Given the description of an element on the screen output the (x, y) to click on. 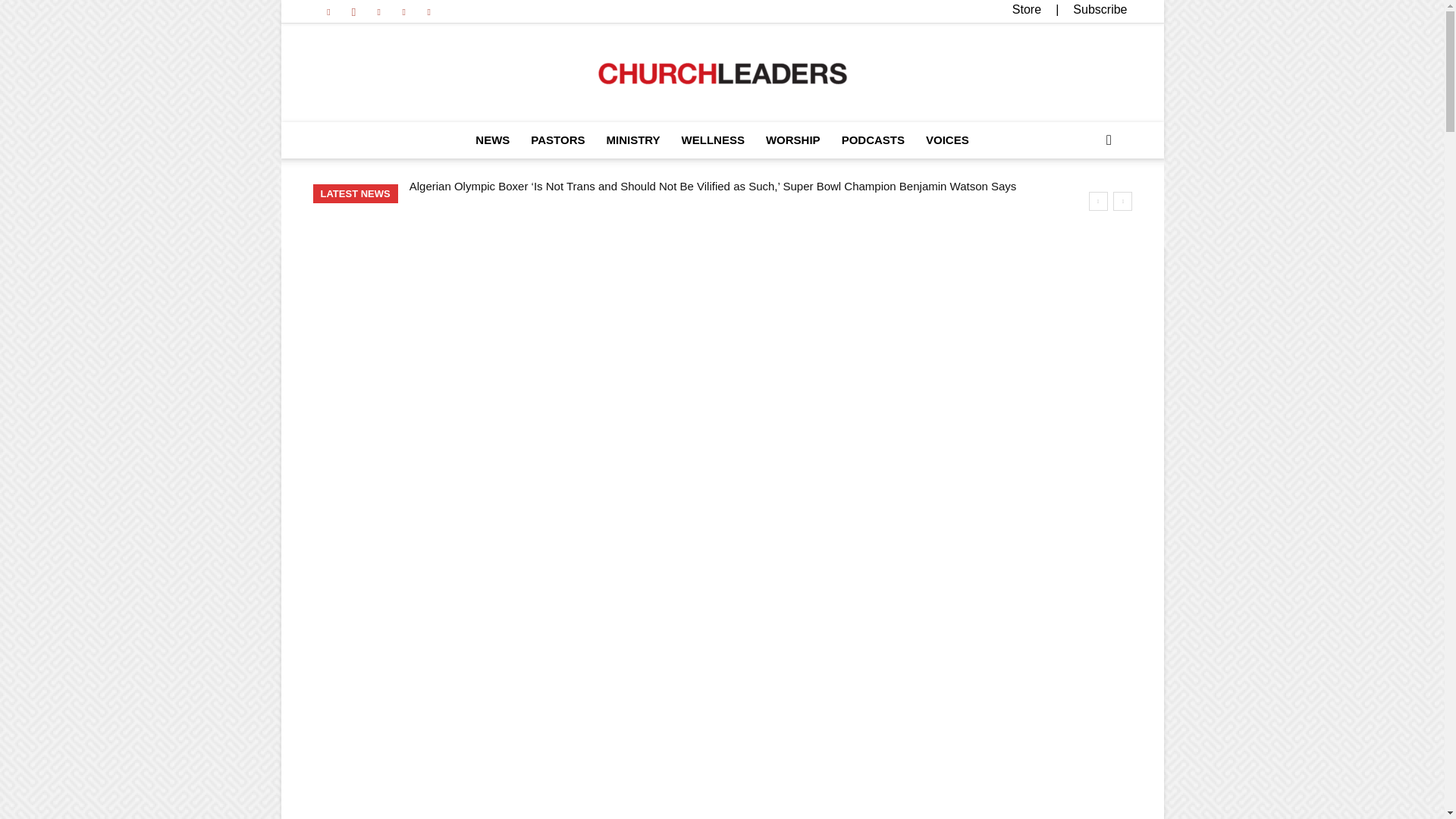
ChurchLeaders Home (721, 73)
Facebook (328, 11)
Twitter (403, 11)
Store (1026, 9)
ChurchLeaders (722, 73)
Instagram (353, 11)
Youtube (429, 11)
NEWS (491, 140)
Pinterest (379, 11)
Subscribe (1099, 9)
PASTORS (557, 140)
